Given the description of an element on the screen output the (x, y) to click on. 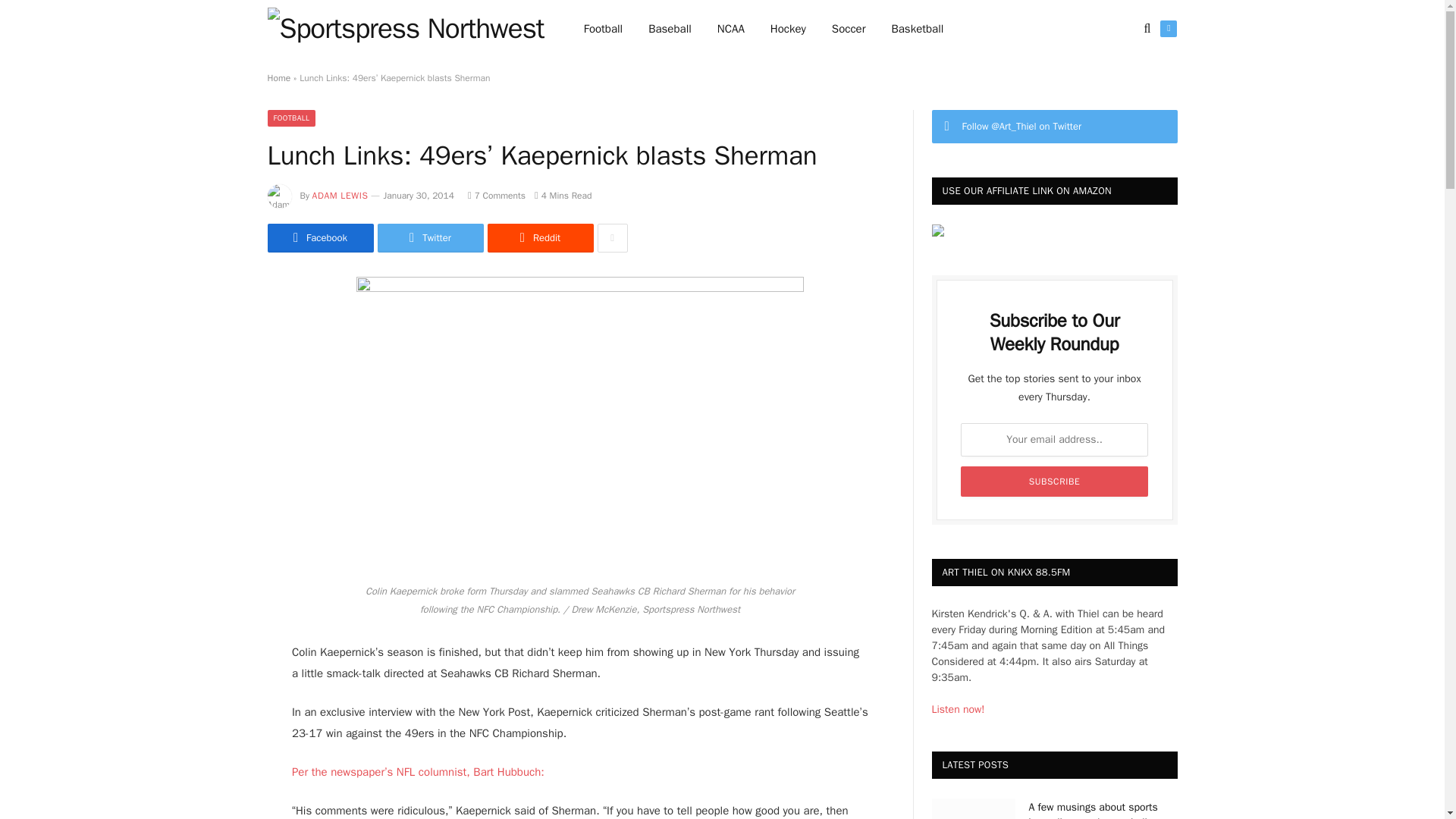
7 Comments (496, 195)
NCAA (730, 28)
Subscribe (1053, 481)
Baseball (669, 28)
Share on Twitter (430, 237)
Sportspress Northwest (404, 28)
Home (277, 78)
Posts by Adam Lewis (340, 195)
Basketball (916, 28)
Facebook (319, 237)
